Given the description of an element on the screen output the (x, y) to click on. 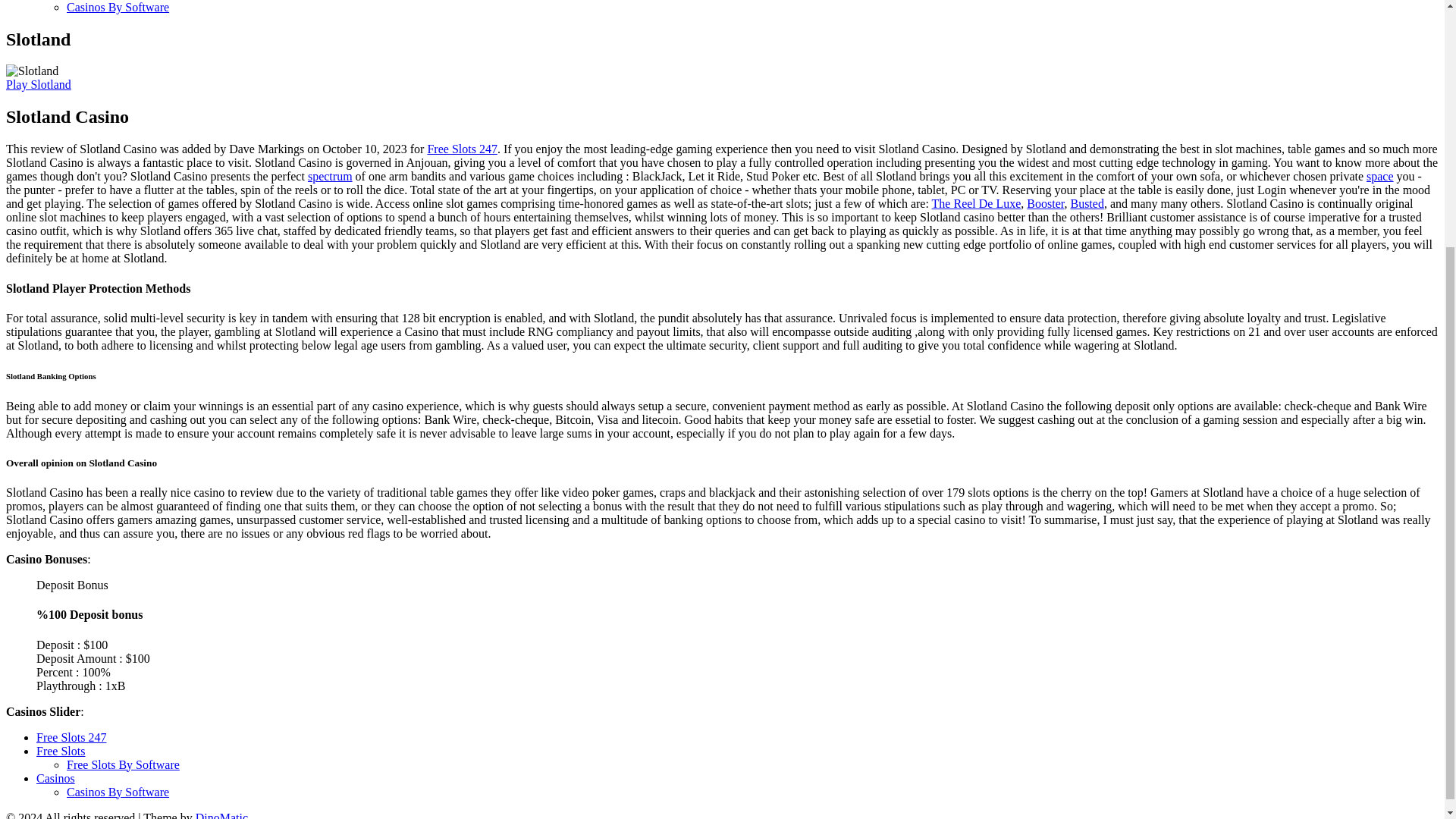
space (1380, 175)
Free Slots By Software (122, 764)
The Reel De Luxe (976, 203)
Booster (1045, 203)
Casinos By Software (117, 6)
Busted (1086, 203)
Play Slotland (38, 83)
Free Slots 247 (71, 737)
Casinos (55, 778)
spectrum (329, 175)
